Given the description of an element on the screen output the (x, y) to click on. 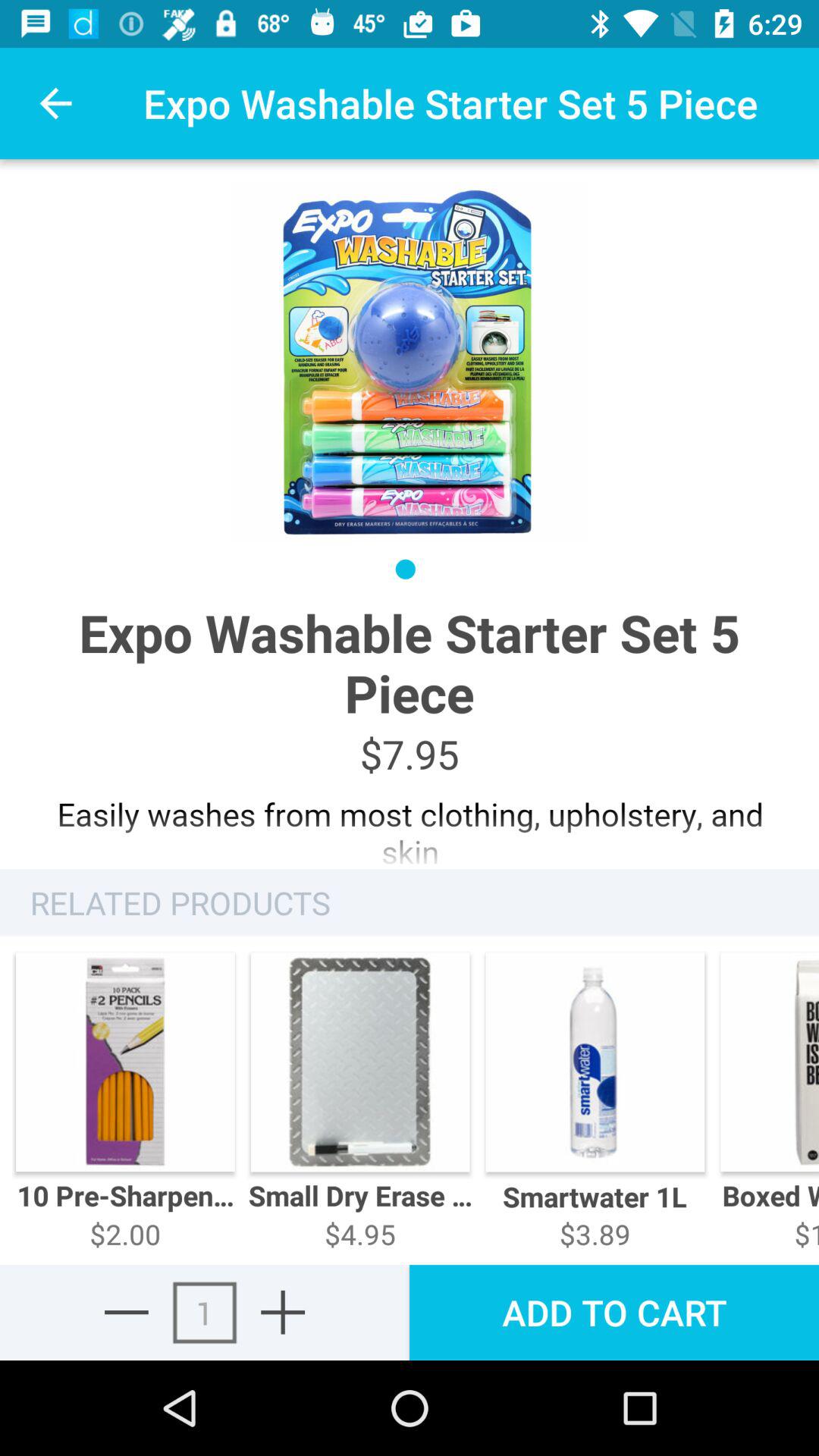
cover art gopuff food drink delivery and add app (282, 1312)
